Given the description of an element on the screen output the (x, y) to click on. 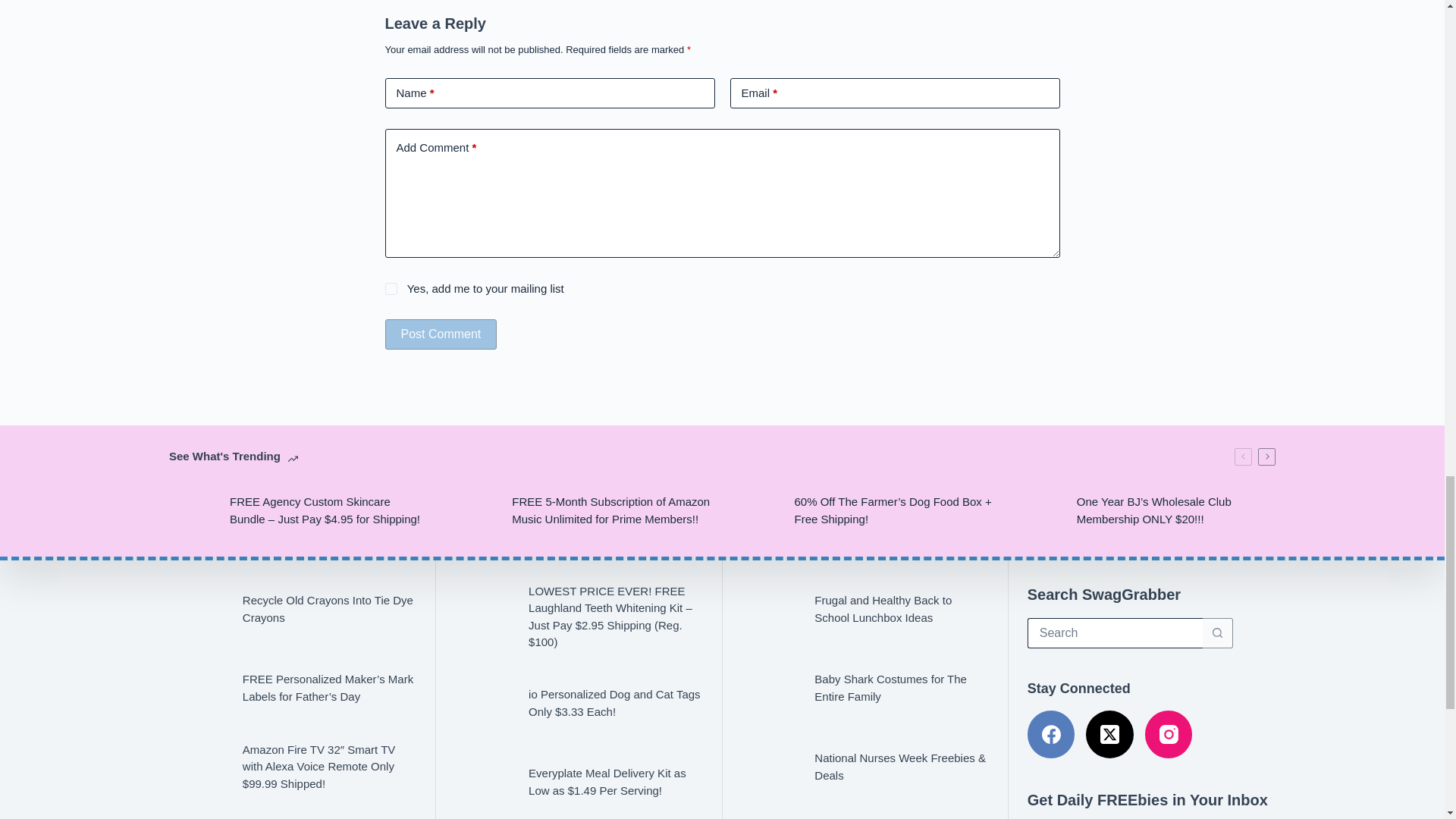
1 (391, 288)
Search for... (1114, 633)
